Given the description of an element on the screen output the (x, y) to click on. 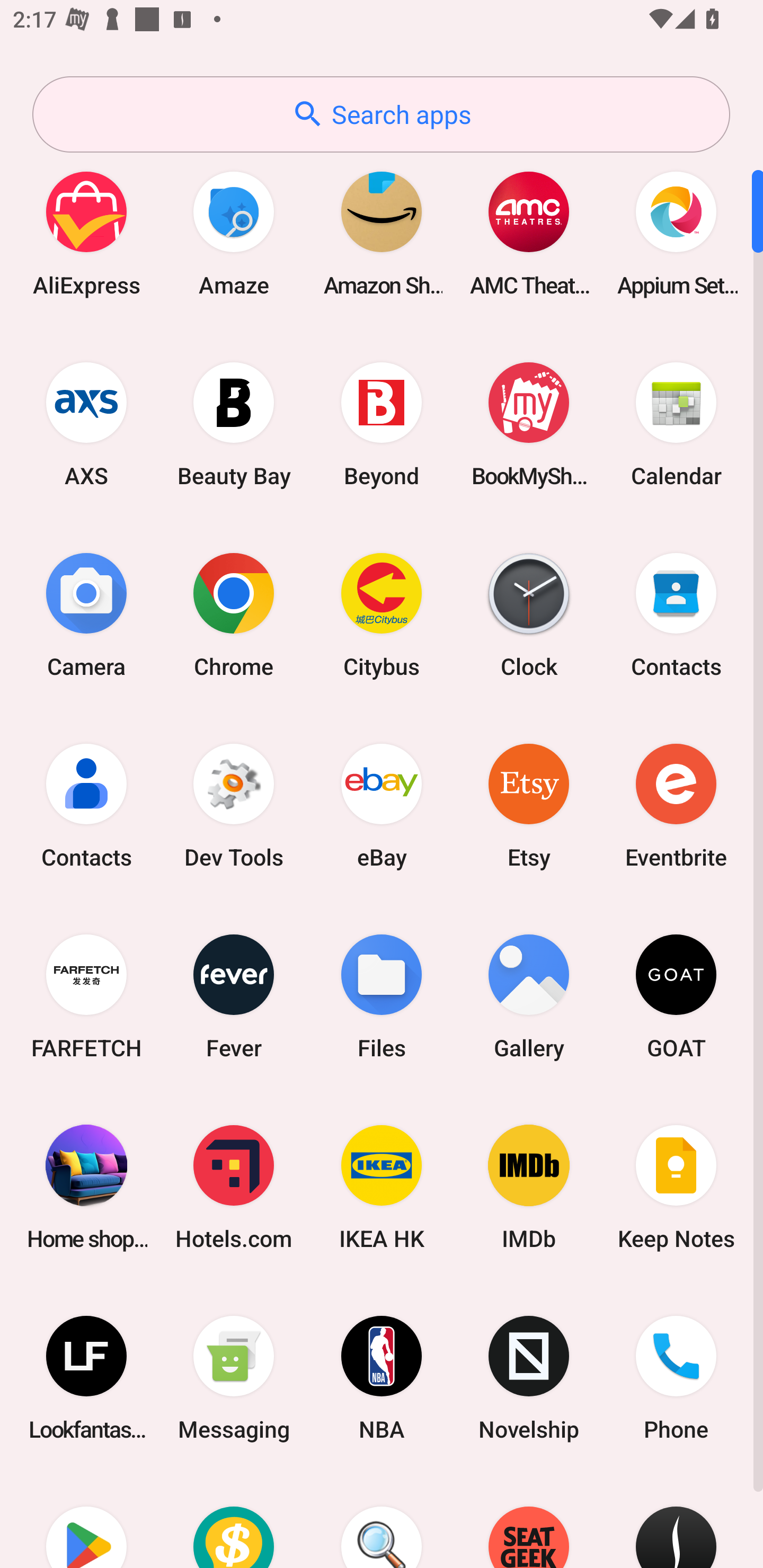
  Search apps (381, 114)
AliExpress (86, 233)
Amaze (233, 233)
Amazon Shopping (381, 233)
AMC Theatres (528, 233)
Appium Settings (676, 233)
AXS (86, 424)
Beauty Bay (233, 424)
Beyond (381, 424)
BookMyShow (528, 424)
Calendar (676, 424)
Camera (86, 614)
Chrome (233, 614)
Citybus (381, 614)
Clock (528, 614)
Contacts (676, 614)
Contacts (86, 805)
Dev Tools (233, 805)
eBay (381, 805)
Etsy (528, 805)
Eventbrite (676, 805)
FARFETCH (86, 996)
Fever (233, 996)
Files (381, 996)
Gallery (528, 996)
GOAT (676, 996)
Home shopping (86, 1186)
Hotels.com (233, 1186)
IKEA HK (381, 1186)
IMDb (528, 1186)
Keep Notes (676, 1186)
Lookfantastic (86, 1377)
Messaging (233, 1377)
NBA (381, 1377)
Novelship (528, 1377)
Phone (676, 1377)
Play Store (86, 1520)
Price (233, 1520)
Search (381, 1520)
SeatGeek (528, 1520)
Sephora (676, 1520)
